Given the description of an element on the screen output the (x, y) to click on. 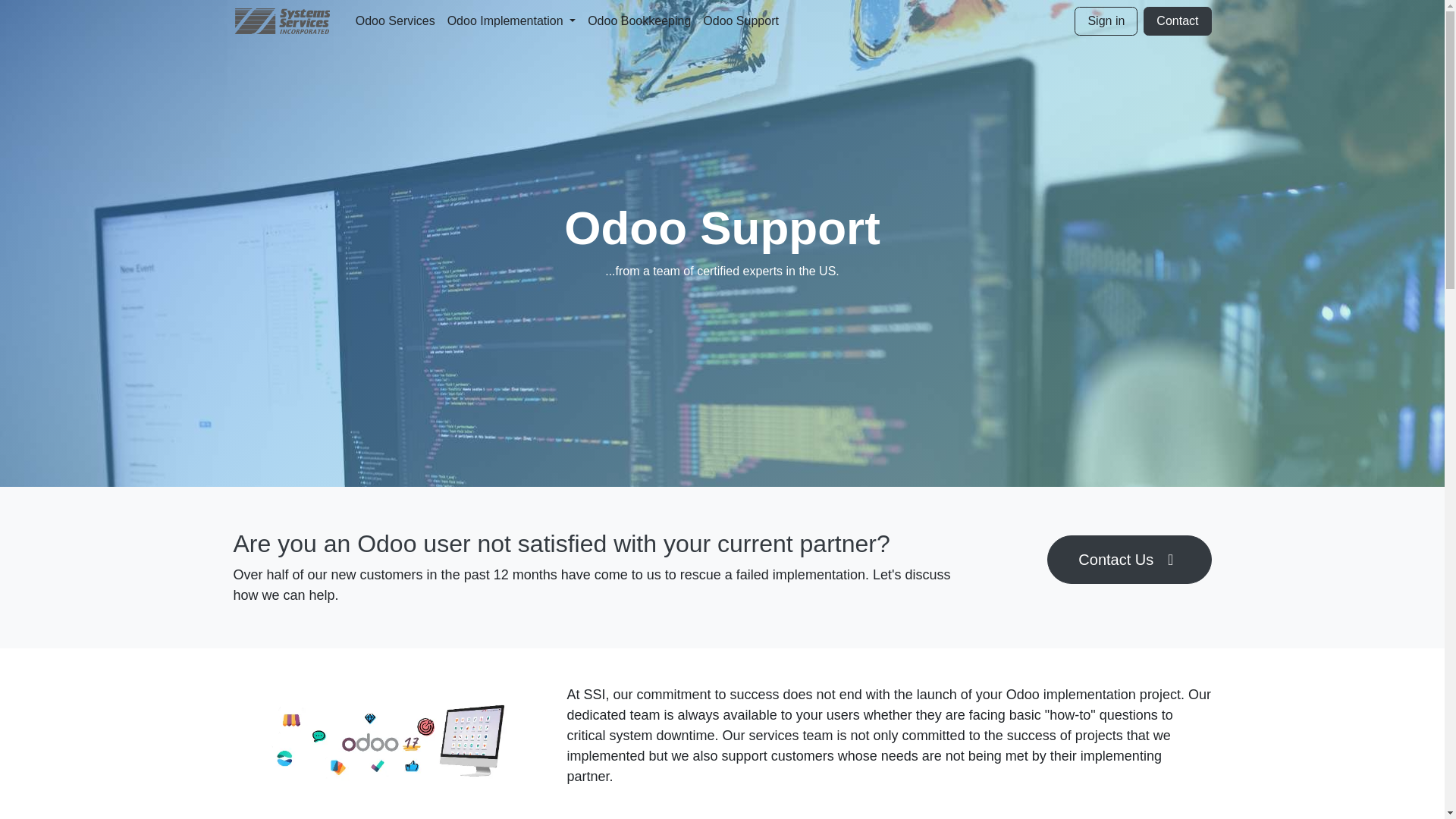
Odoo Bookkeeping (638, 20)
Odoo Support (740, 20)
Odoo Implementation (511, 20)
Odoo Services (395, 20)
Contact (1176, 21)
Systems Services, Inc. (281, 20)
Contact Us (1128, 559)
Sign in (1105, 21)
